Given the description of an element on the screen output the (x, y) to click on. 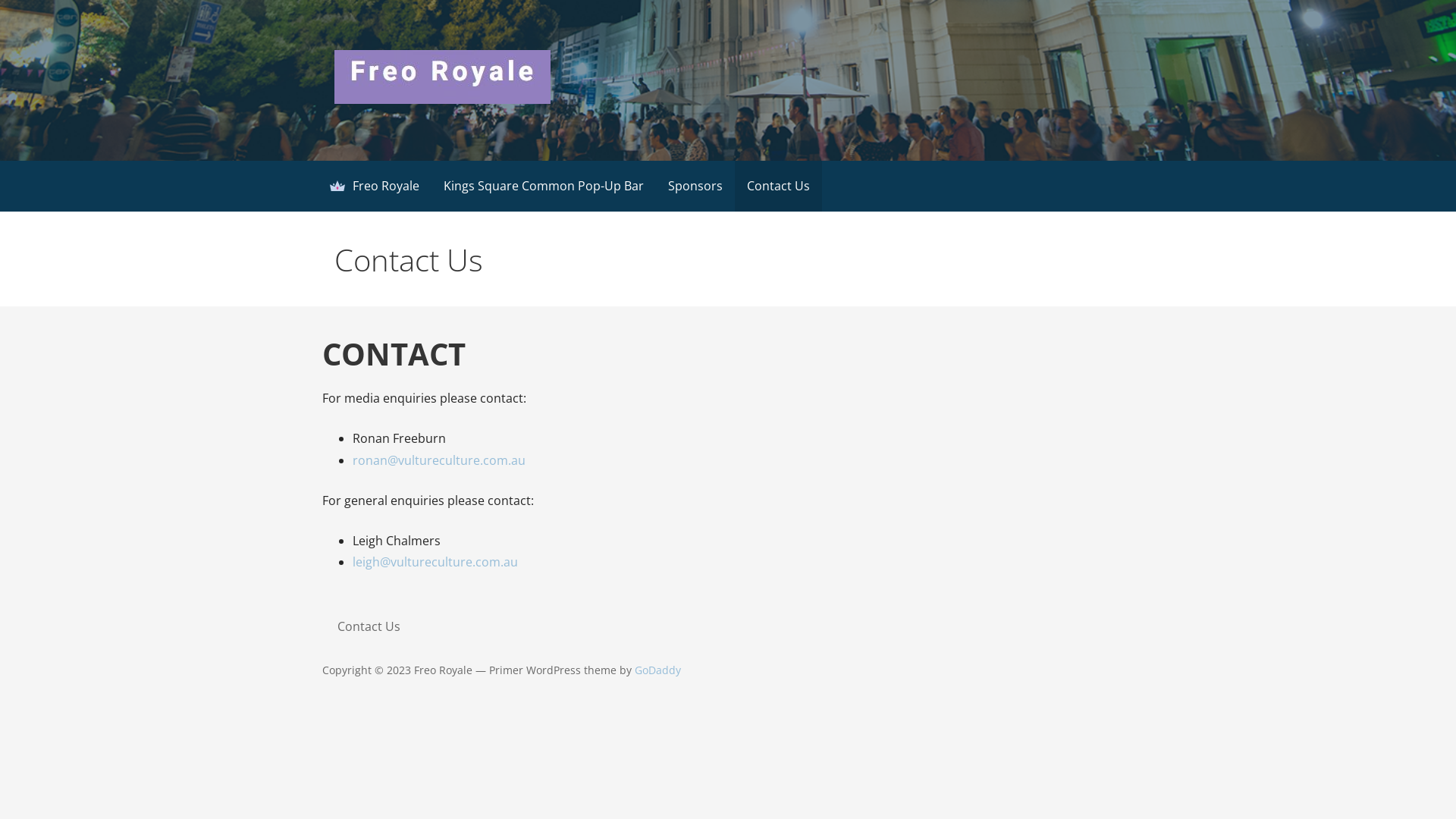
ronan@vultureculture.com.au Element type: text (438, 459)
Contact Us Element type: text (778, 185)
Kings Square Common Pop-Up Bar Element type: text (543, 185)
leigh@vultureculture.com.au Element type: text (434, 561)
GoDaddy Element type: text (657, 669)
sitemap Element type: text (327, 707)
Contact Us Element type: text (368, 626)
Sponsors Element type: text (694, 185)
Freo Royale Element type: text (380, 185)
Freo Royale Element type: text (400, 128)
